Given the description of an element on the screen output the (x, y) to click on. 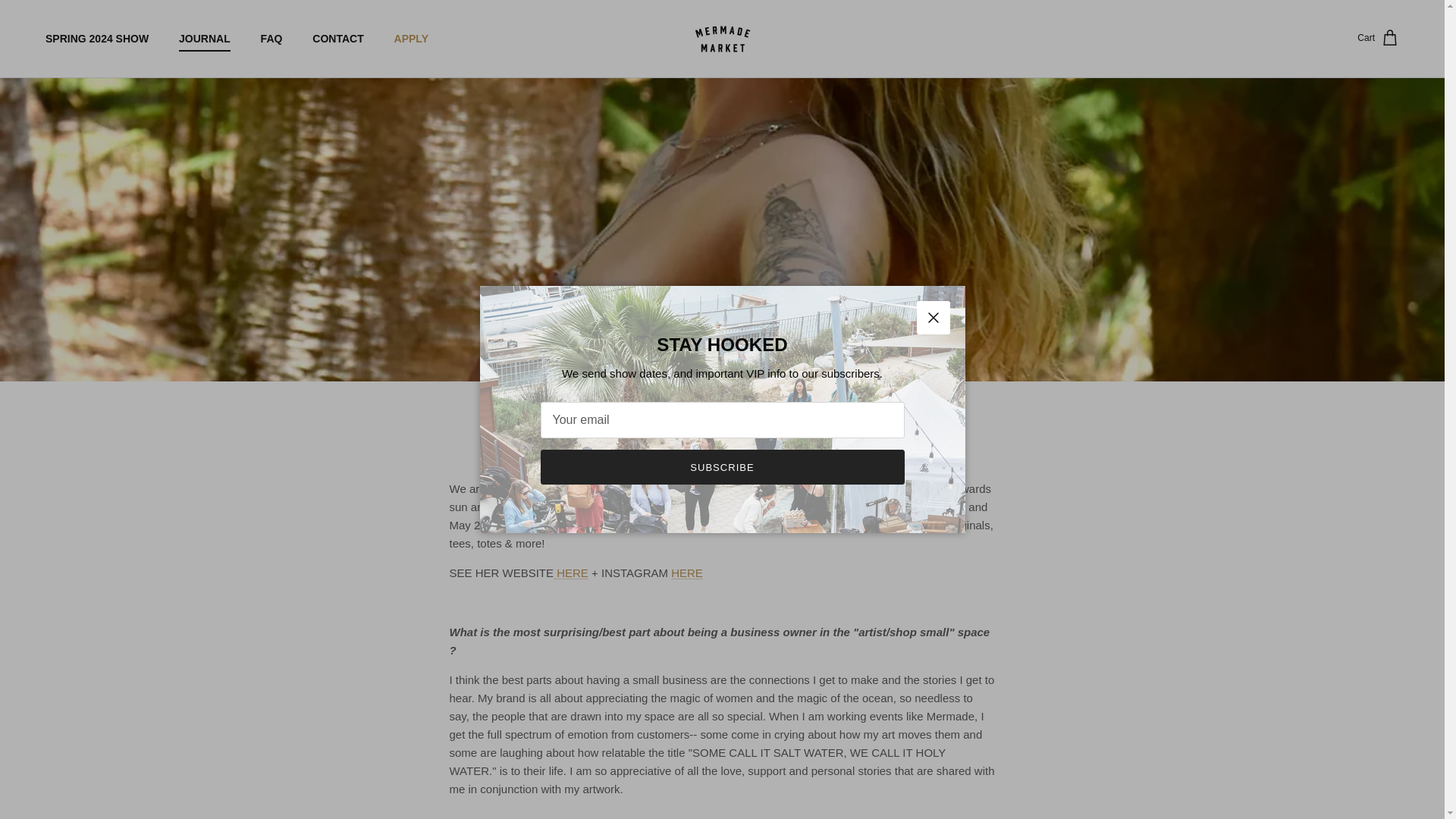
Cart (1377, 38)
APPLY (411, 38)
CONTACT (337, 38)
HERE (570, 572)
Mermade Market (721, 38)
HERE (687, 572)
JOURNAL (204, 38)
FAQ (272, 38)
SPRING 2024 SHOW (96, 38)
